Given the description of an element on the screen output the (x, y) to click on. 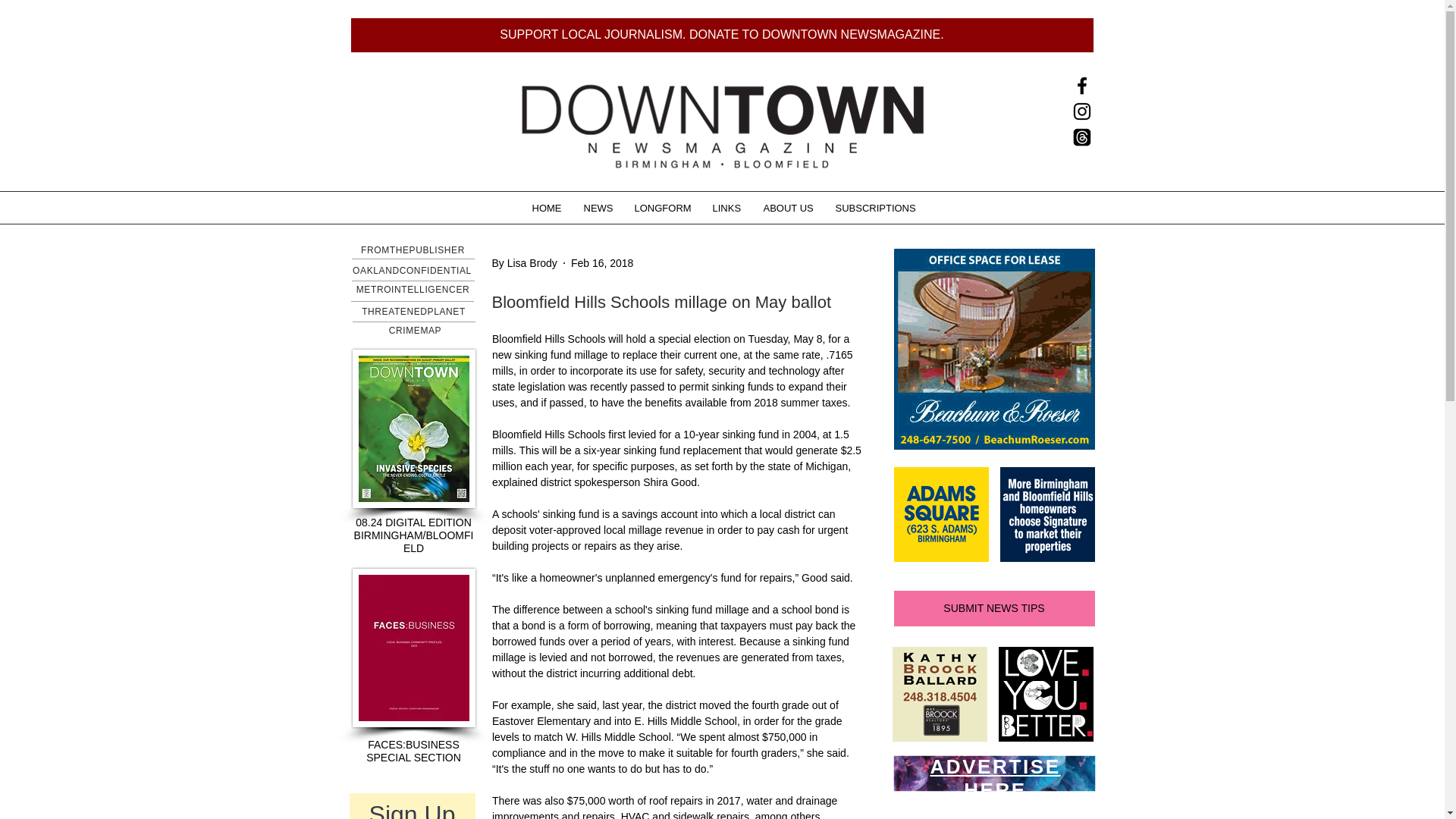
LONGFORM (662, 208)
Feb 16, 2018 (601, 262)
SUBSCRIPTIONS (873, 208)
HOME (545, 208)
By Lisa Brody (524, 262)
SUPPORT LOCAL JOURNALISM. DONATE TO DOWNTOWN NEWSMAGAZINE. (721, 35)
